Given the description of an element on the screen output the (x, y) to click on. 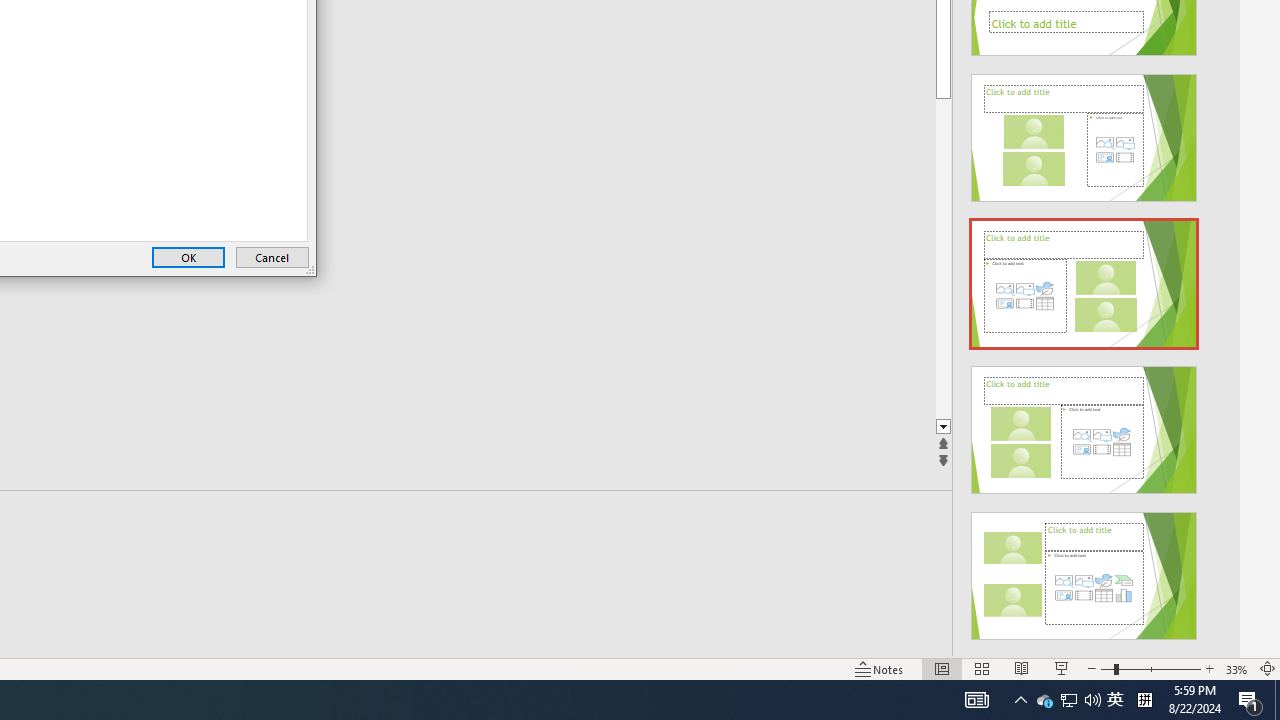
Cancel (272, 257)
Action Center, 1 new notification (1250, 699)
IME Mode Icon - IME is disabled (1115, 699)
